Given the description of an element on the screen output the (x, y) to click on. 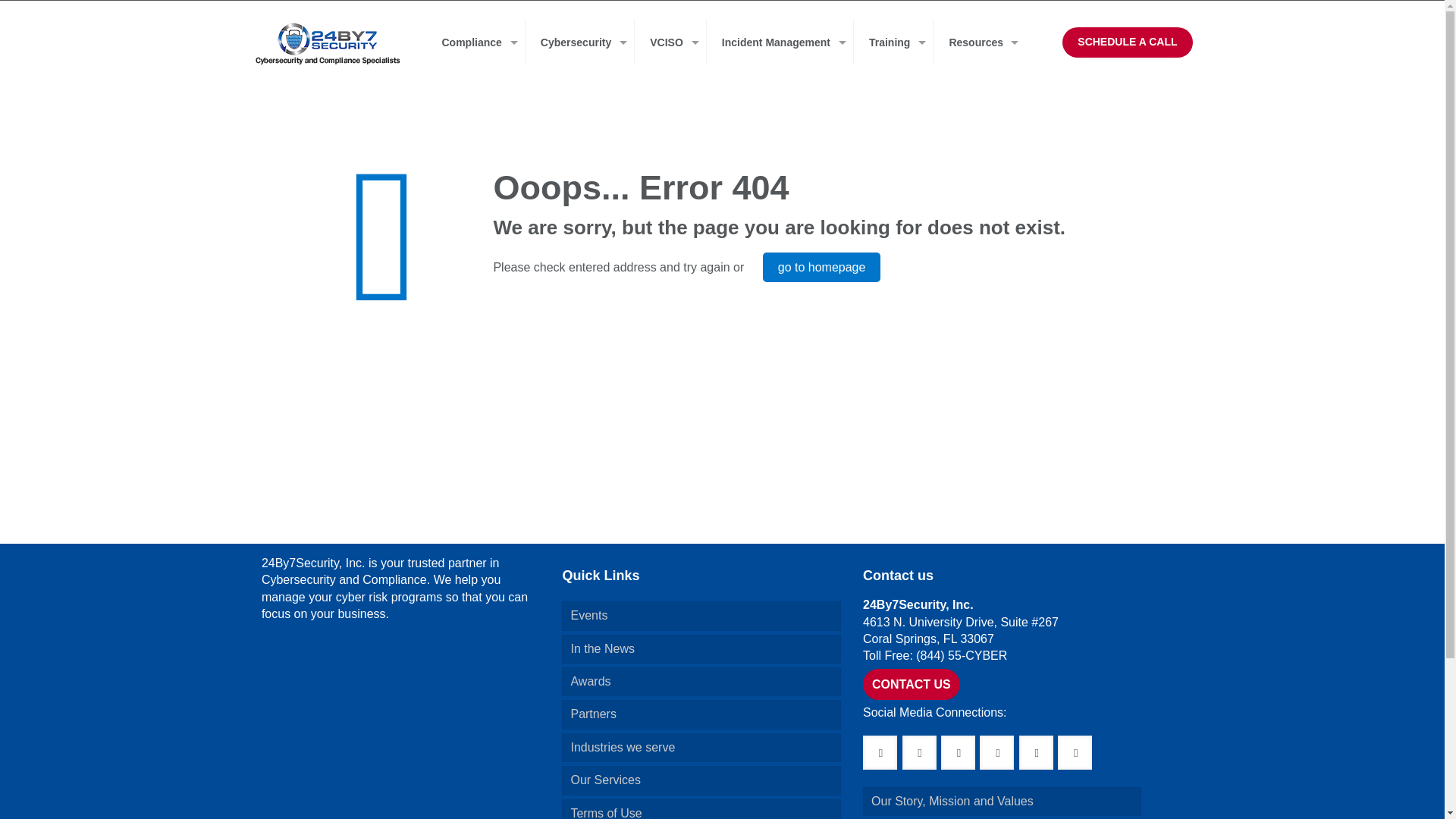
Incident Management (779, 42)
Training (893, 42)
Compliance (475, 42)
Cybersecurity (579, 42)
24by7security (327, 43)
